Given the description of an element on the screen output the (x, y) to click on. 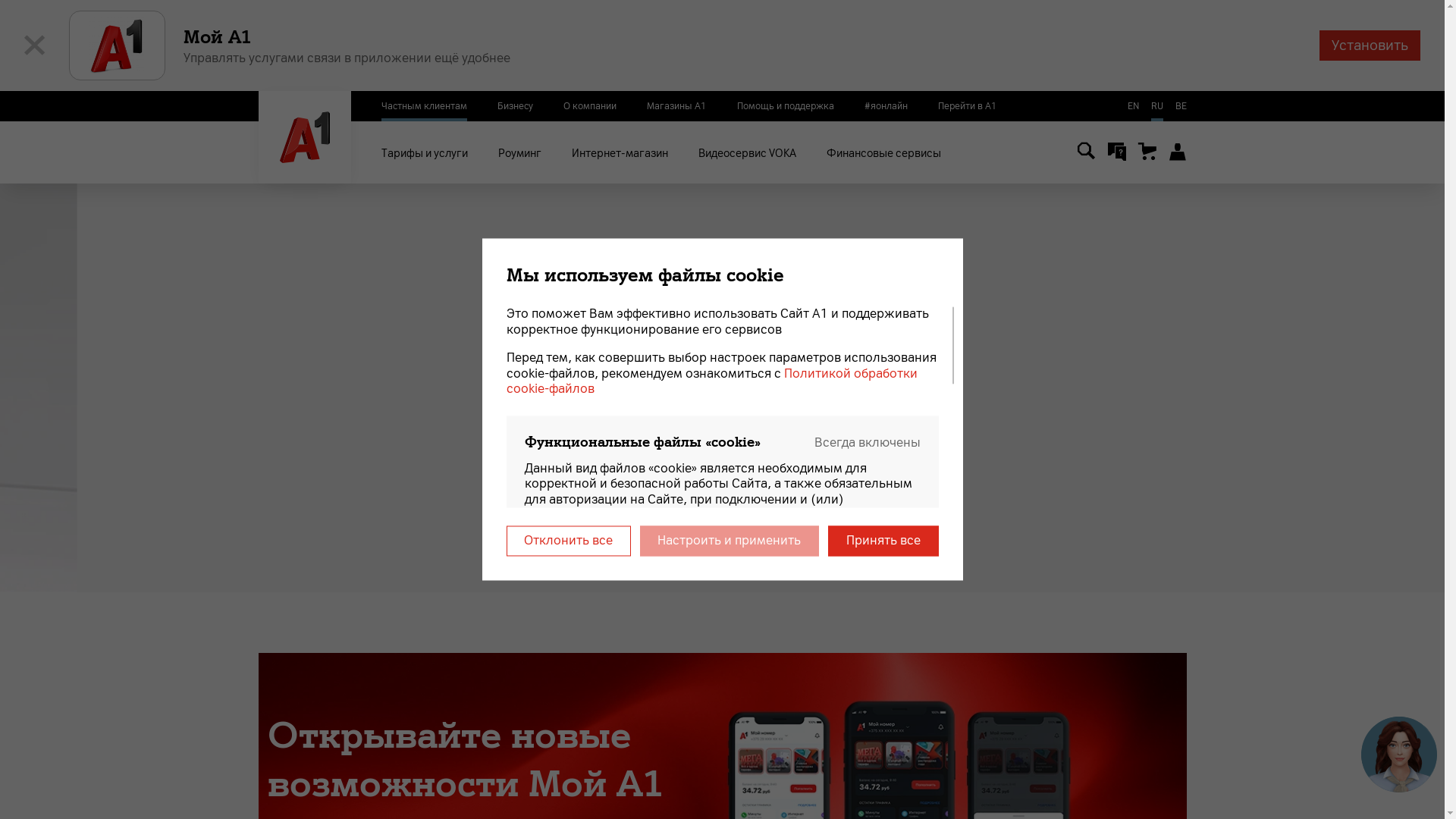
RU Element type: text (1157, 106)
EN Element type: text (1132, 106)
BE Element type: text (1180, 106)
